Given the description of an element on the screen output the (x, y) to click on. 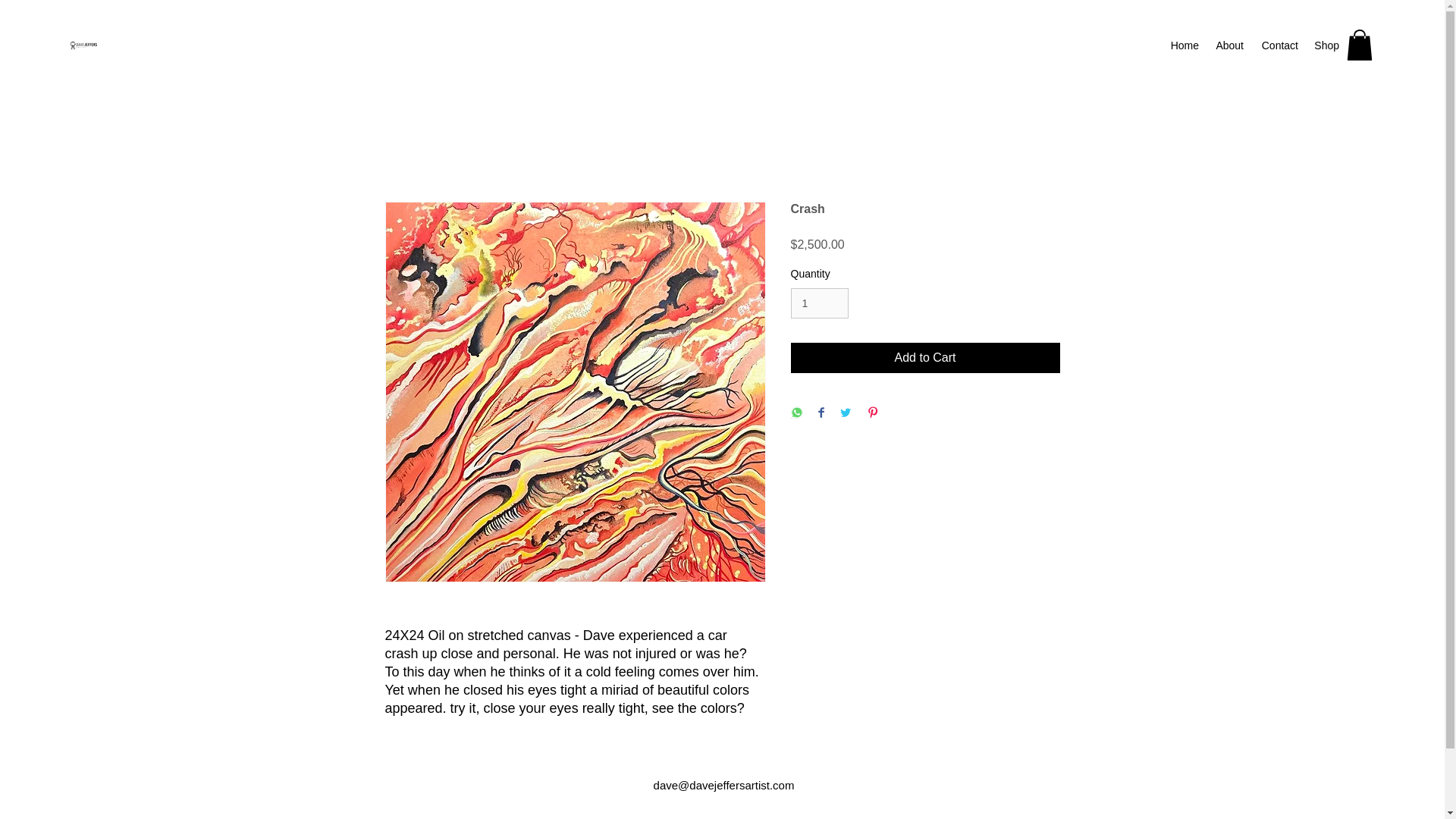
About (1228, 45)
Home (1184, 45)
Shop (1326, 45)
1 (818, 303)
Add to Cart (924, 358)
Contact (1278, 45)
